Given the description of an element on the screen output the (x, y) to click on. 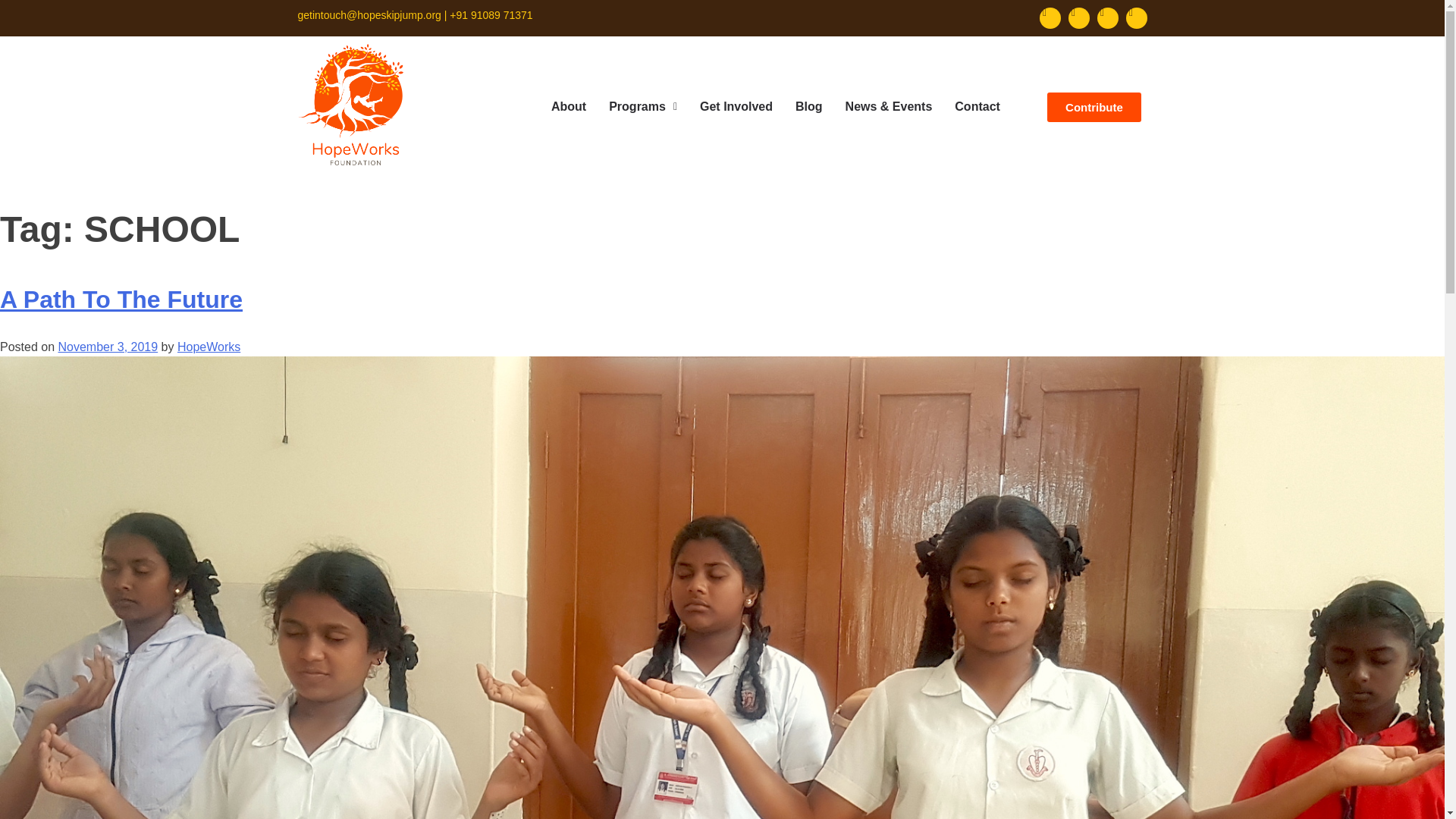
Programs (642, 106)
Get Involved (736, 106)
Contribute (1093, 107)
HopeWorks (208, 346)
November 3, 2019 (107, 346)
About (568, 106)
A Path To The Future (121, 298)
Blog (809, 106)
Contact (977, 106)
